Given the description of an element on the screen output the (x, y) to click on. 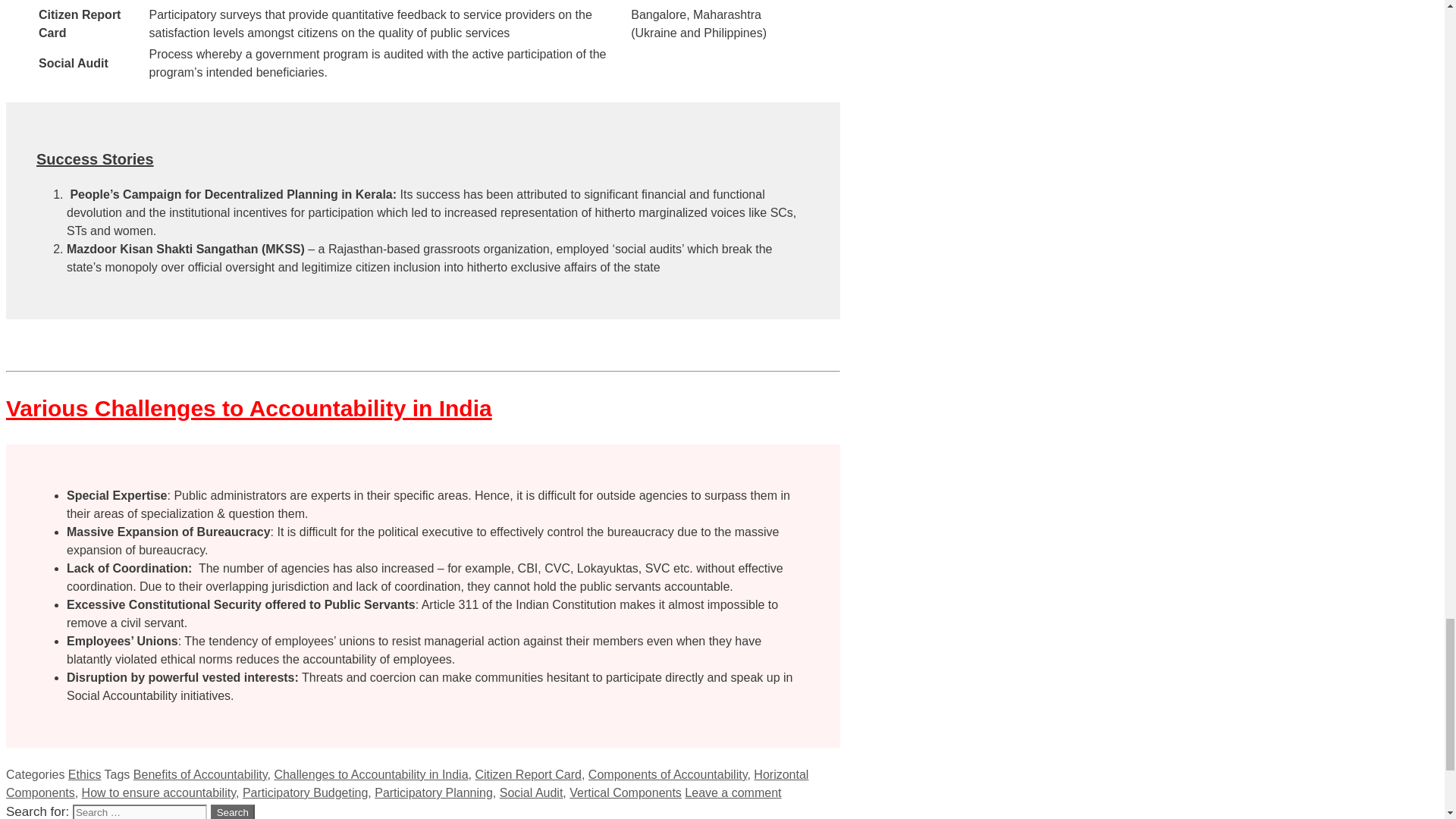
Leave a comment (732, 792)
Search (232, 811)
Social Audit (531, 792)
Search (232, 811)
Ethics (84, 774)
How to ensure accountability (158, 792)
Benefits of Accountability (200, 774)
Participatory Planning (433, 792)
Components of Accountability (668, 774)
Citizen Report Card (527, 774)
Vertical Components (625, 792)
Horizontal Components (406, 783)
Challenges to Accountability in India (370, 774)
Participatory Budgeting (305, 792)
Search for: (139, 811)
